Given the description of an element on the screen output the (x, y) to click on. 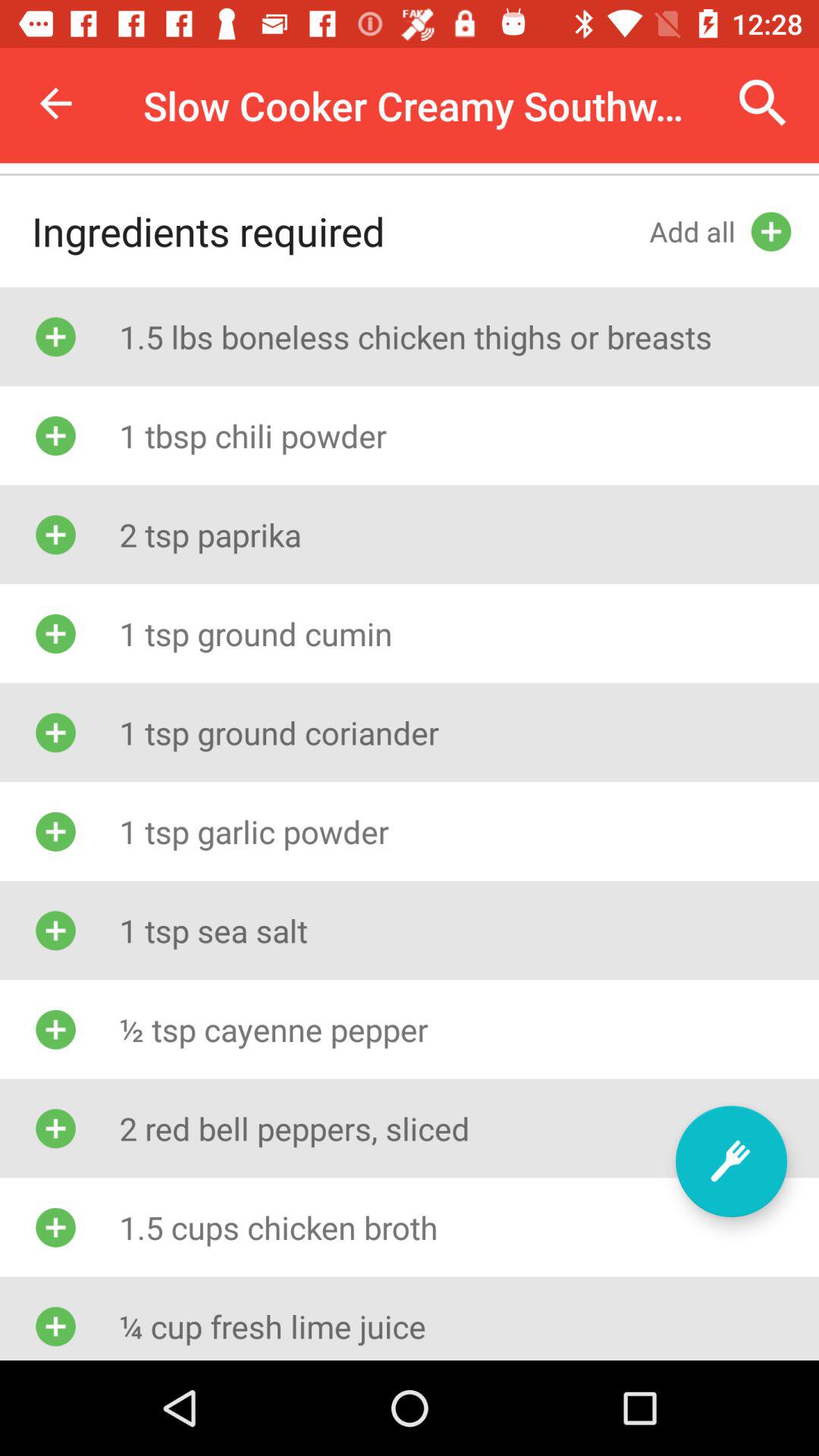
create recipe (731, 1161)
